Given the description of an element on the screen output the (x, y) to click on. 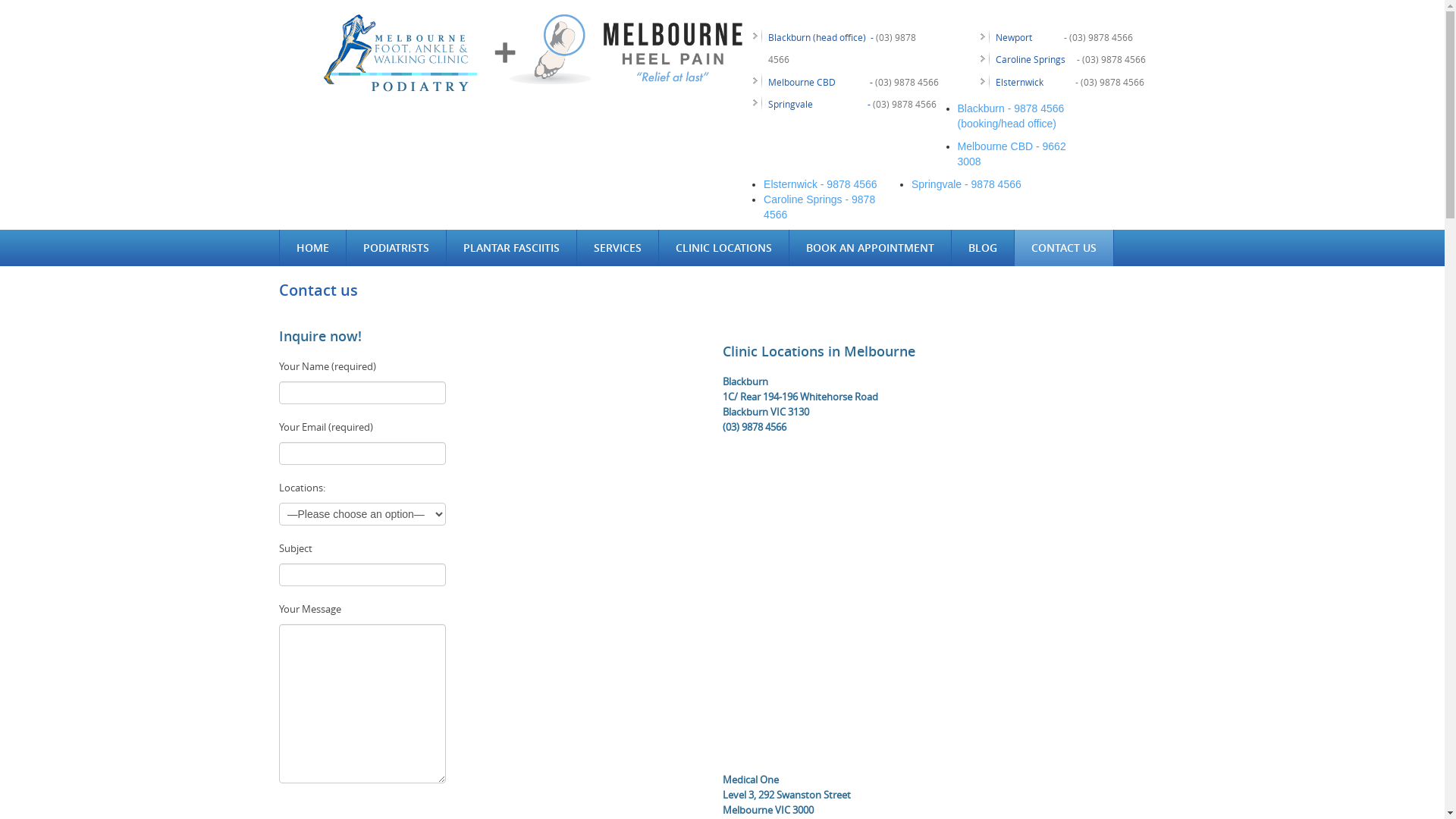
Elsternwick              - (03) 9878 4566 Element type: text (1068, 81)
Melbourne CBD - 9662 3008 Element type: text (1011, 153)
Caroline Springs     - (03) 9878 4566 Element type: text (1069, 59)
Melbourne CBD               - (03) 9878 4566 Element type: text (852, 81)
Blackburn (head office)  - (03) 9878 4566 Element type: text (841, 48)
Springvale - 9878 4566 Element type: text (966, 184)
CONTACT US Element type: text (1063, 247)
Melbourne Heel Pain Element type: hover (525, 52)
Blackburn - 9878 4566
(booking/head office) Element type: text (1015, 116)
PODIATRISTS Element type: text (395, 247)
HOME Element type: text (312, 247)
Newport              - (03) 9878 4566 Element type: text (1063, 37)
BLOG Element type: text (981, 247)
SERVICES Element type: text (616, 247)
Caroline Springs - 9878 4566 Element type: text (819, 206)
Springvale                        - (03) 9878 4566 Element type: text (851, 103)
Elsternwick - 9878 4566 Element type: text (819, 184)
CLINIC LOCATIONS Element type: text (722, 247)
PLANTAR FASCIITIS Element type: text (510, 247)
BOOK AN APPOINTMENT Element type: text (869, 247)
